Given the description of an element on the screen output the (x, y) to click on. 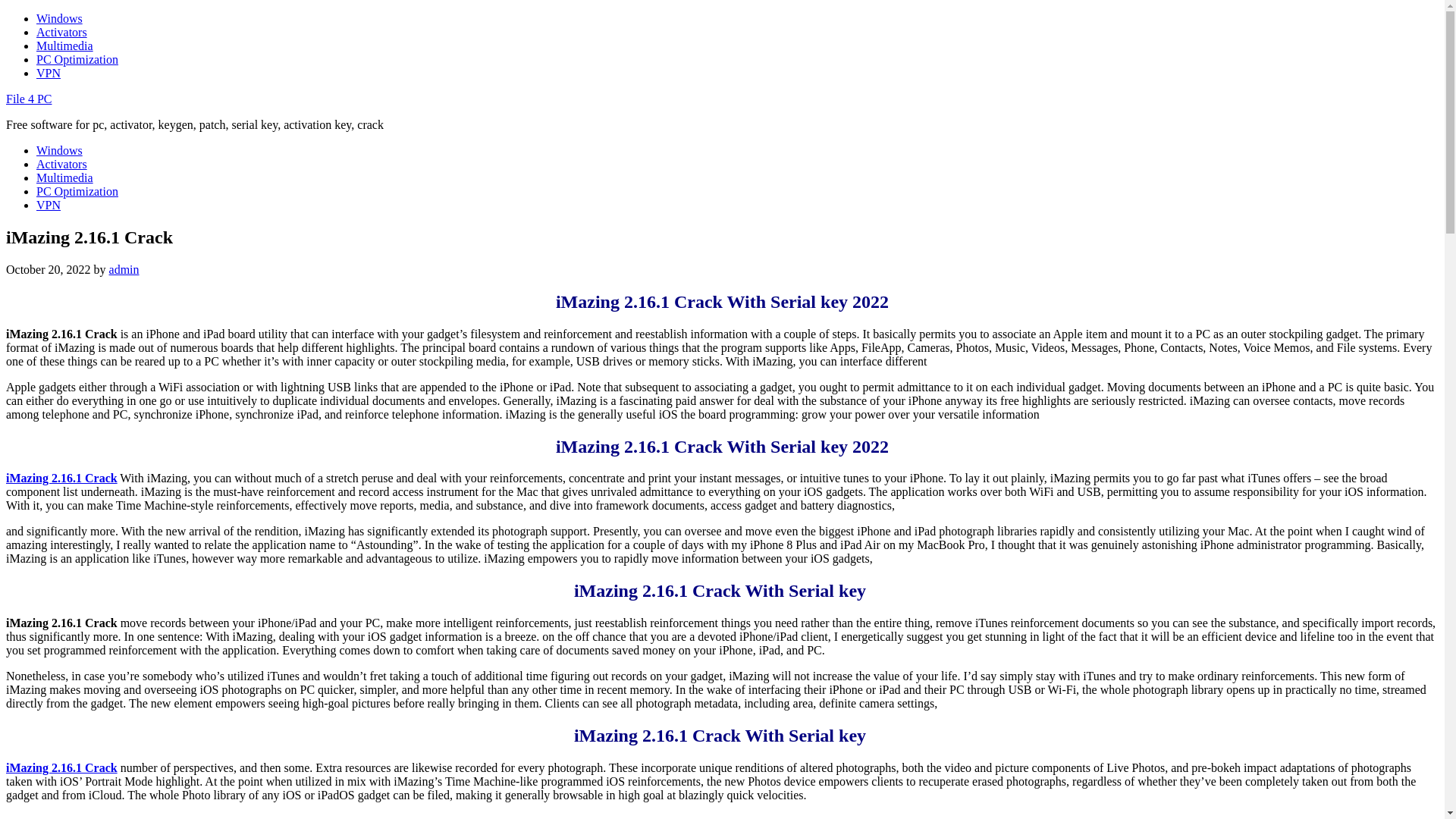
iMazing 2.16.1 Crack (61, 767)
PC Optimization (76, 59)
admin (124, 269)
Windows (59, 18)
PC Optimization (76, 191)
VPN (48, 205)
Multimedia (64, 45)
VPN (48, 72)
iMazing 2.16.1 Crack (61, 477)
File 4 PC (27, 98)
Multimedia (64, 177)
Activators (61, 31)
Activators (61, 164)
Windows (59, 150)
